Given the description of an element on the screen output the (x, y) to click on. 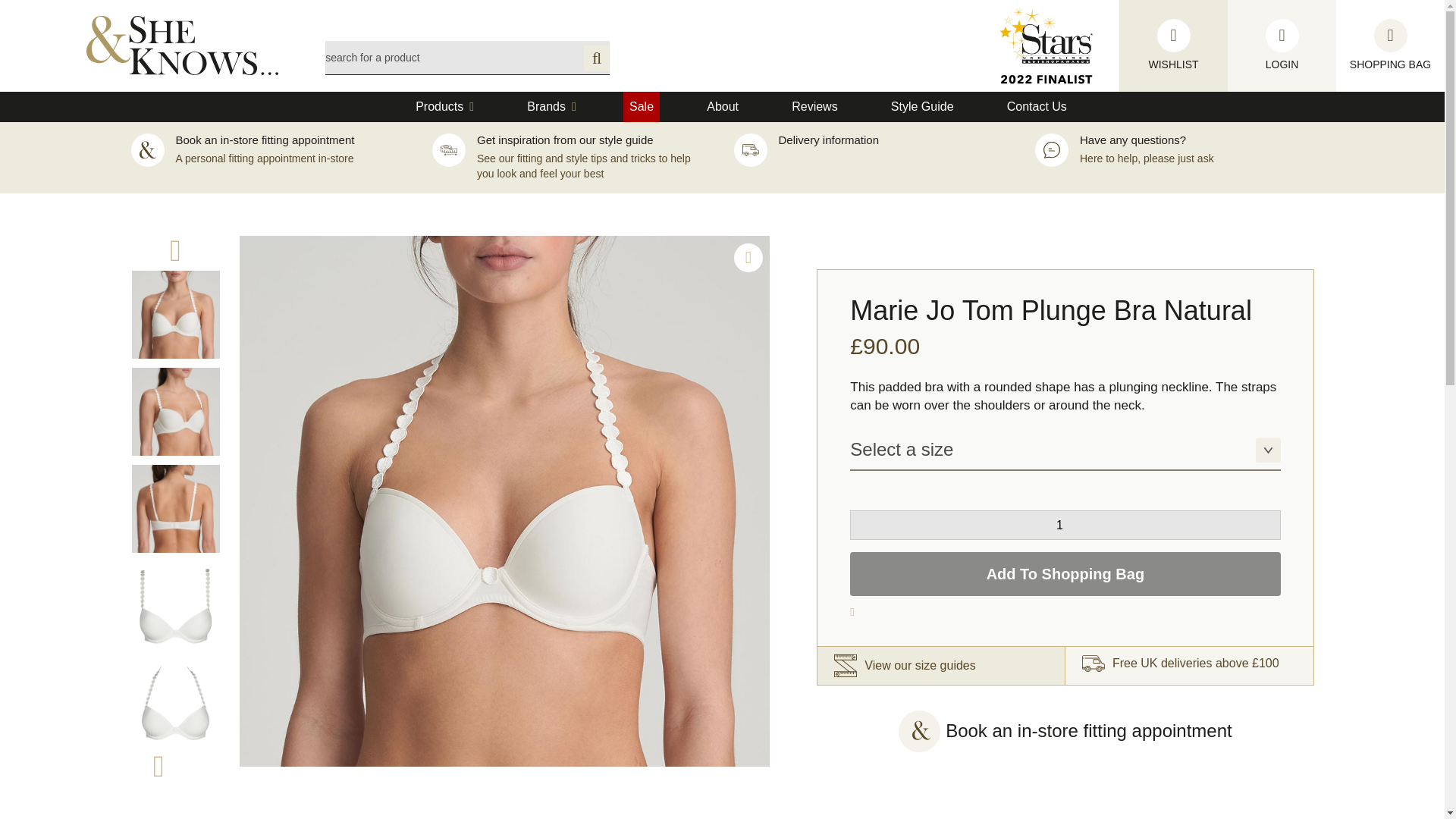
SHOPPING BAG (1390, 45)
1 (1064, 524)
Find your size using our guides (940, 665)
wishlist (1281, 45)
wishlist (1390, 45)
WISHLIST (1173, 45)
Brands (551, 106)
Products (444, 106)
LOGIN (1281, 45)
Book an in-store fitting appointment (1087, 731)
wishlist (1173, 45)
star (1045, 46)
